Given the description of an element on the screen output the (x, y) to click on. 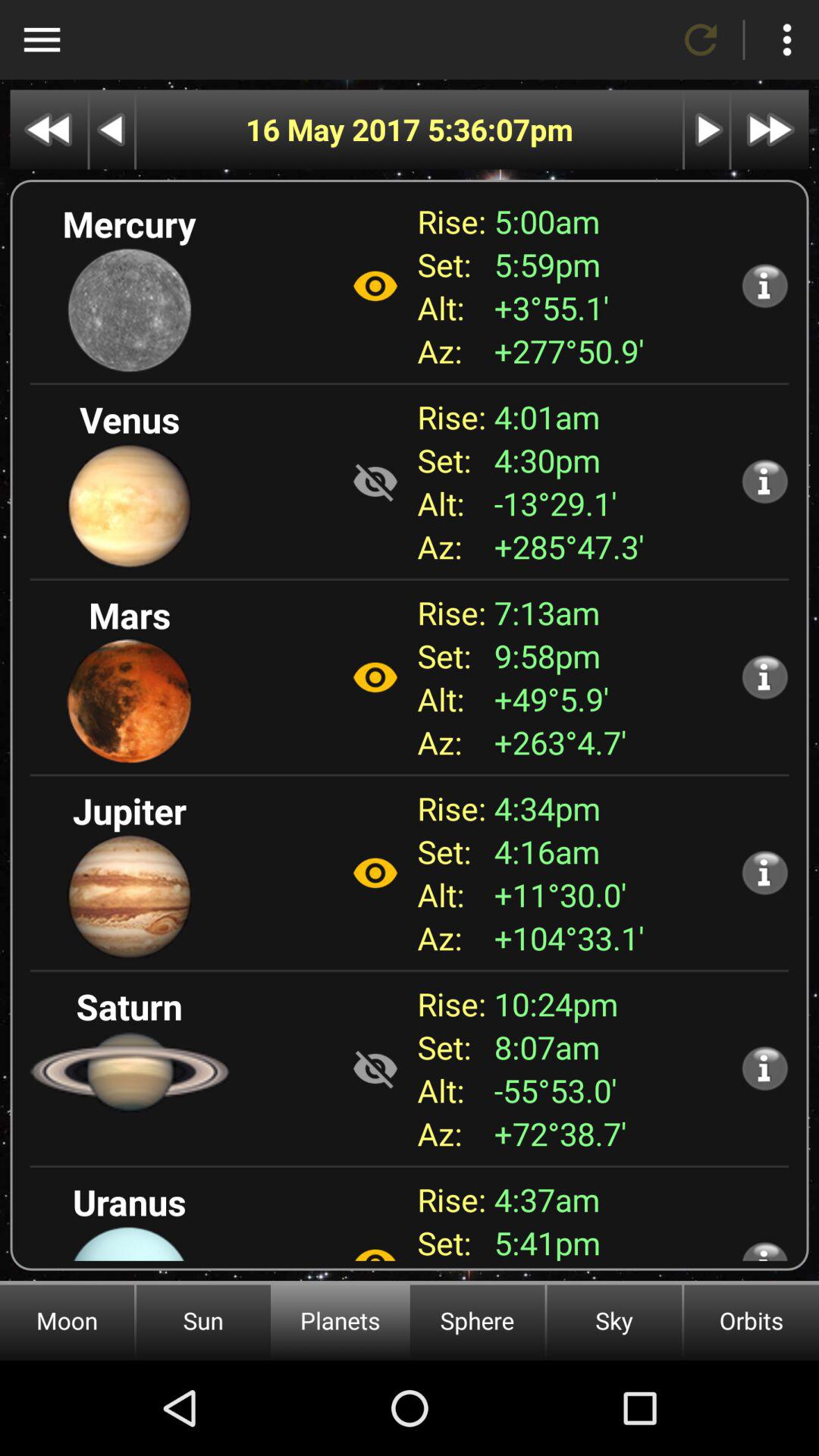
toggle information screen (764, 481)
